Given the description of an element on the screen output the (x, y) to click on. 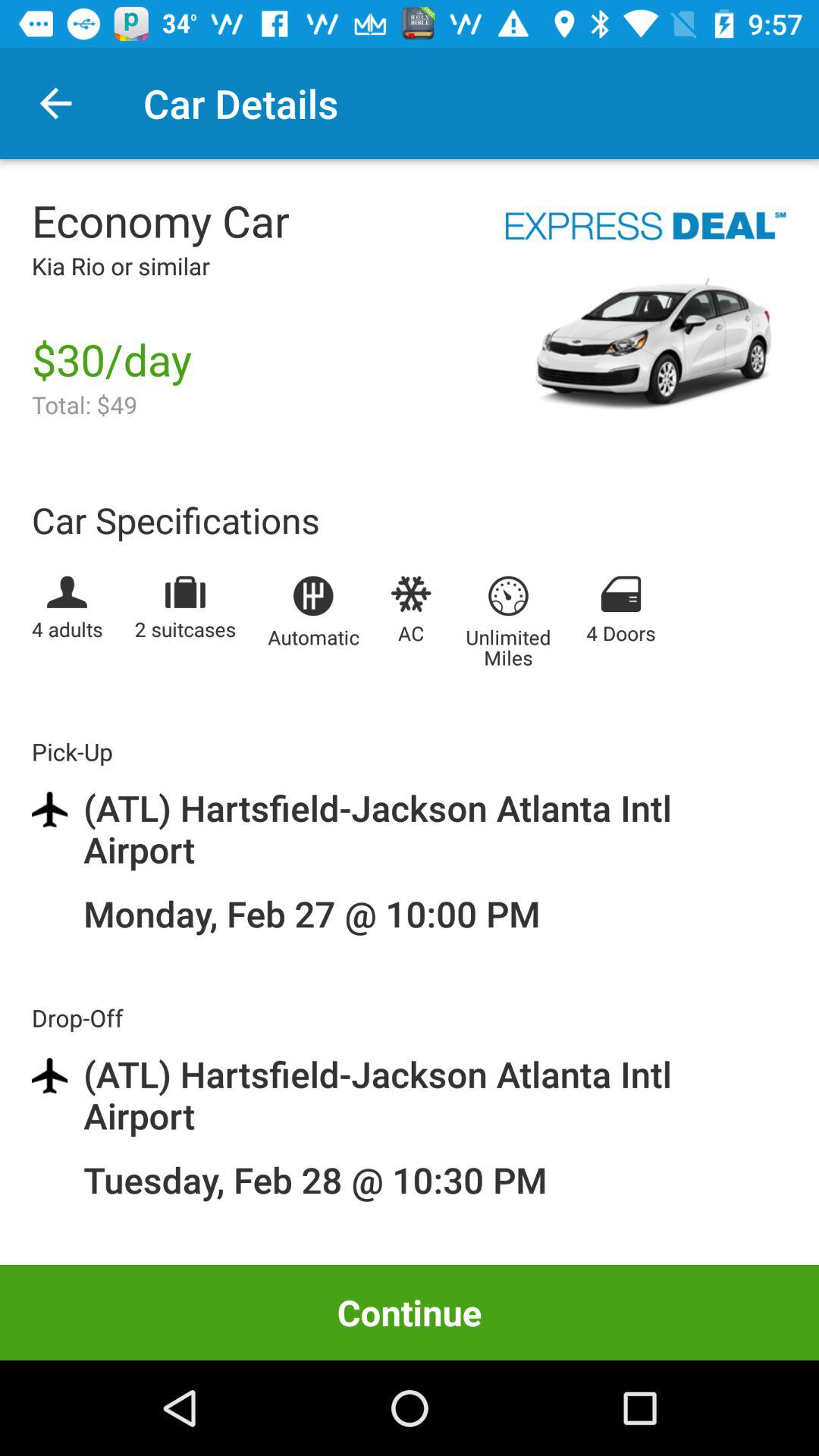
choose continue icon (409, 1312)
